Given the description of an element on the screen output the (x, y) to click on. 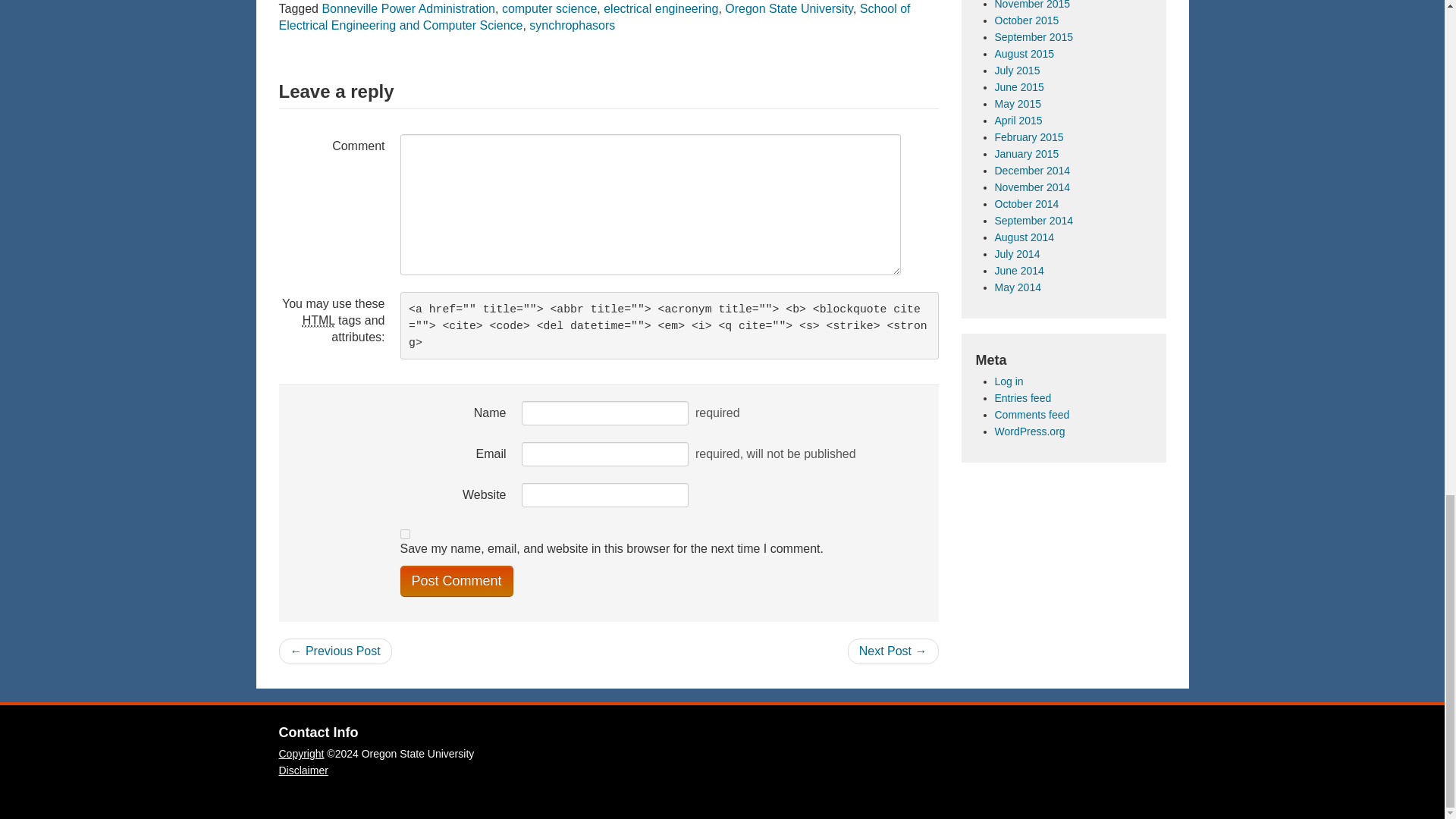
Post Comment (456, 581)
Post Comment (456, 581)
HyperText Markup Language (318, 320)
yes (405, 533)
Bonneville Power Administration (408, 8)
electrical engineering (660, 8)
School of Electrical Engineering and Computer Science (595, 16)
computer science (549, 8)
Oregon State University (789, 8)
synchrophasors (571, 24)
